Given the description of an element on the screen output the (x, y) to click on. 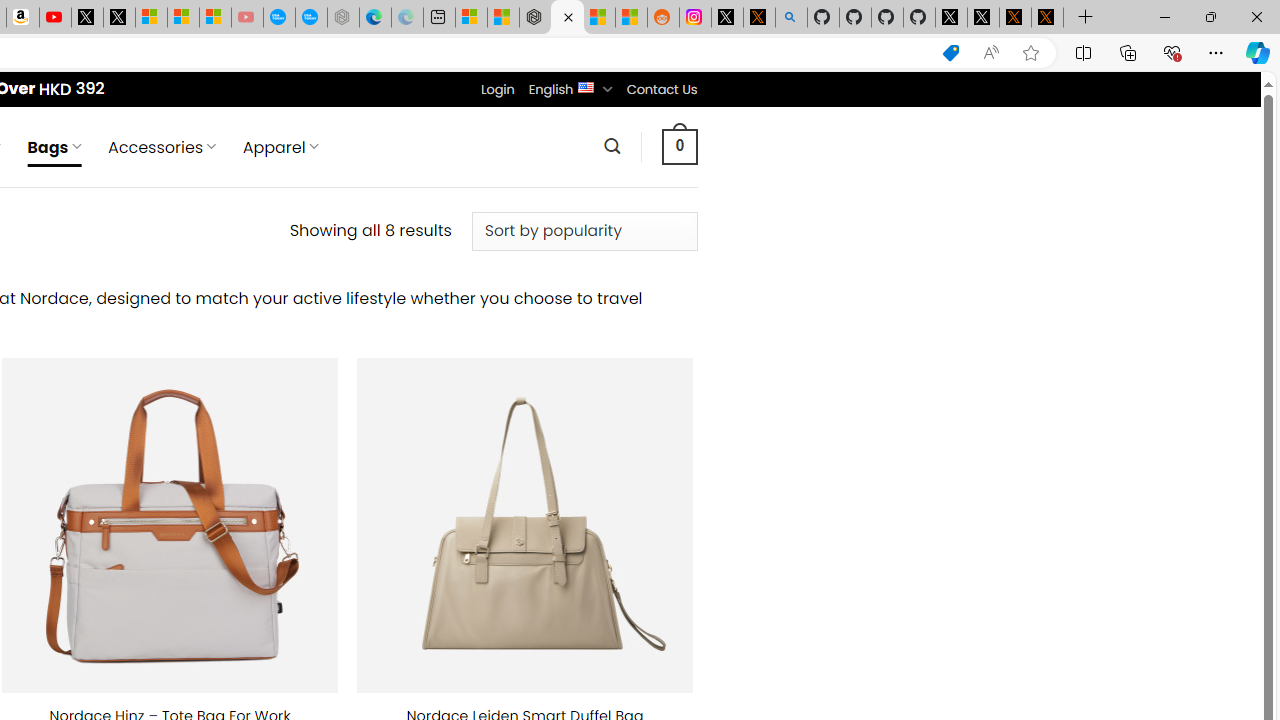
GitHub (@github) / X (983, 17)
github - Search (791, 17)
Opinion: Op-Ed and Commentary - USA TODAY (279, 17)
Shanghai, China Weather trends | Microsoft Weather (630, 17)
  0   (679, 146)
Login (497, 89)
